Given the description of an element on the screen output the (x, y) to click on. 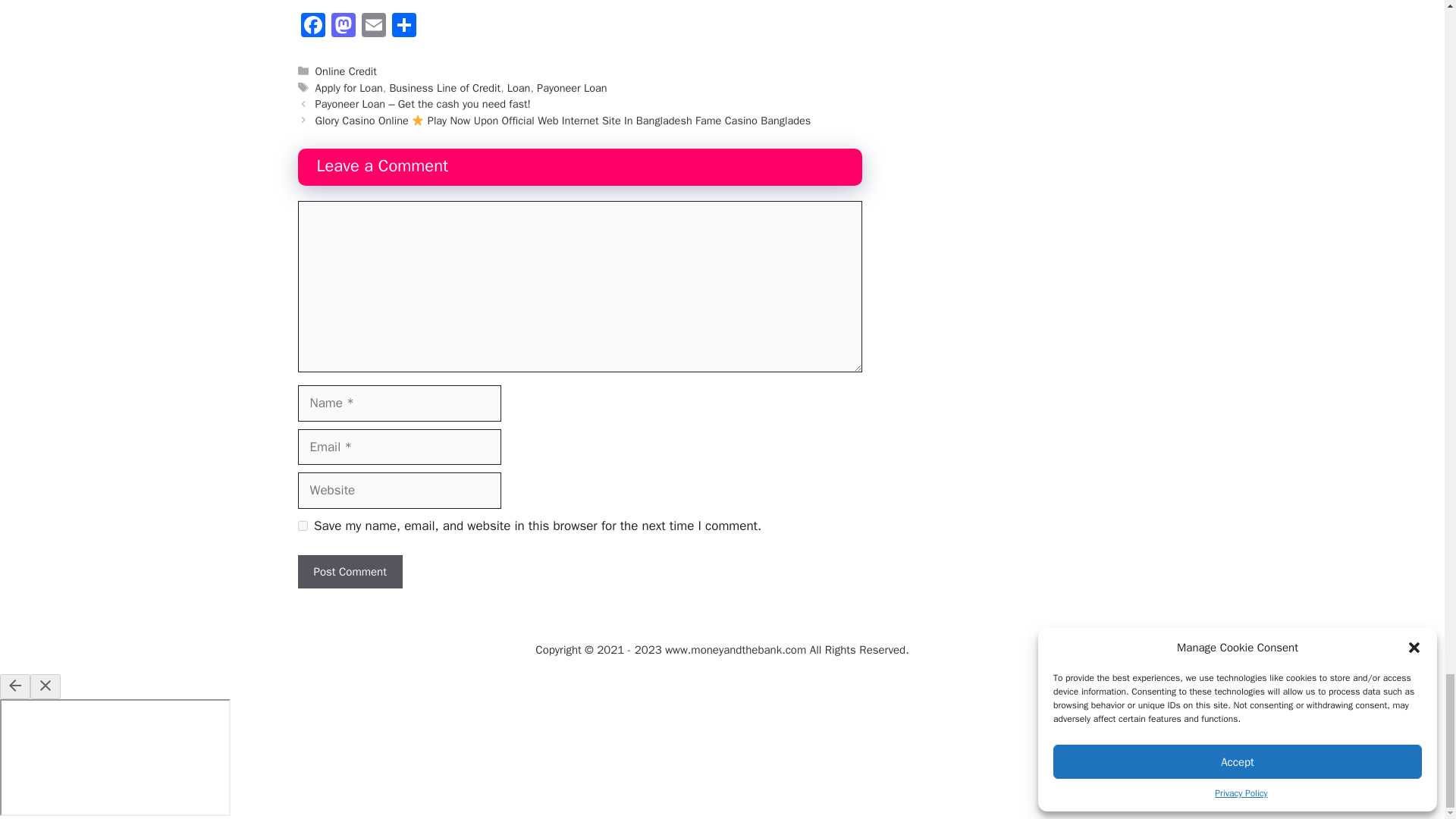
Mastodon (342, 27)
Facebook (312, 27)
yes (302, 525)
Email (373, 27)
Post Comment (349, 571)
